Given the description of an element on the screen output the (x, y) to click on. 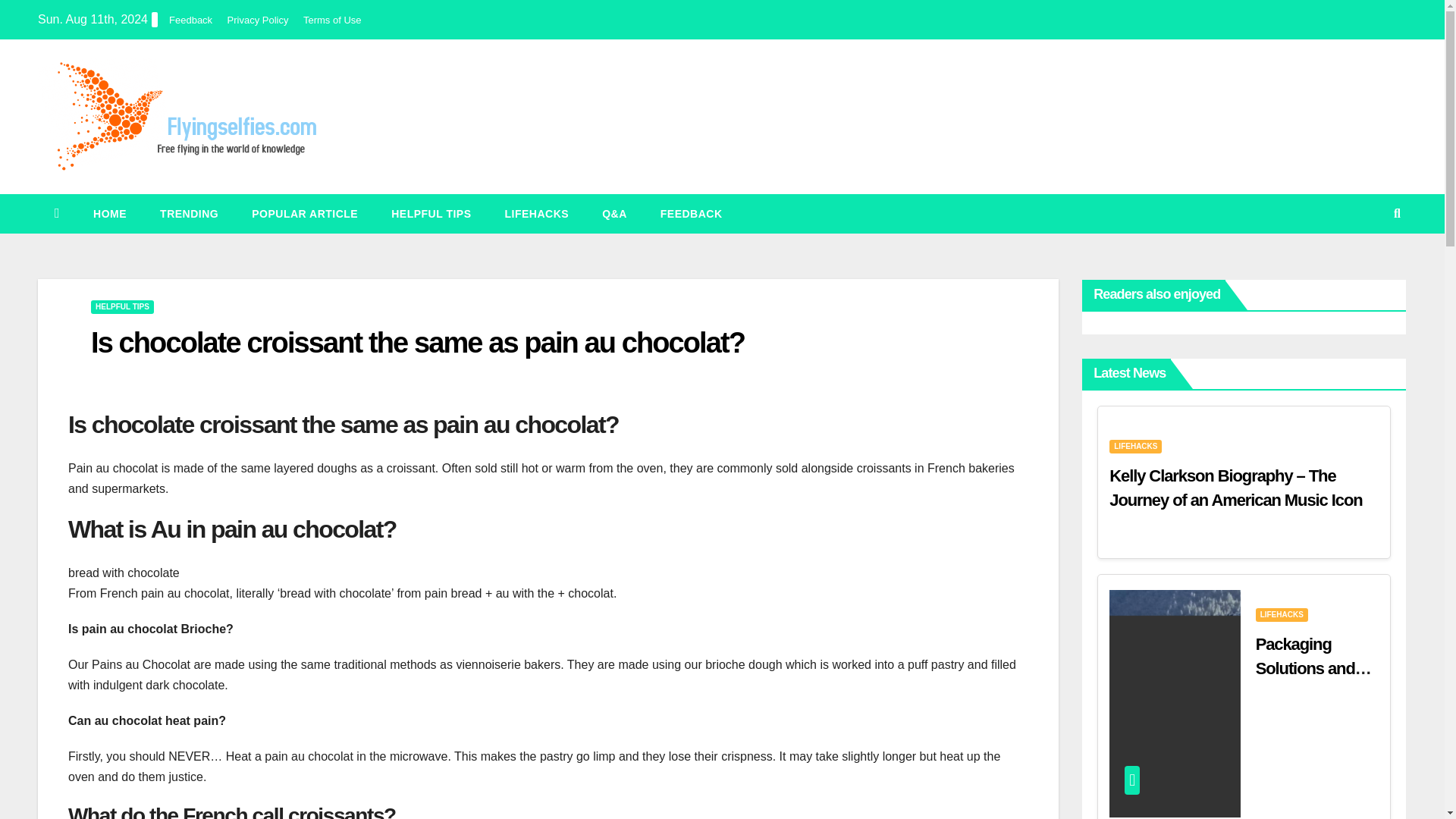
FEEDBACK (691, 213)
Is chocolate croissant the same as pain au chocolat? (417, 342)
Trending (188, 213)
Home (109, 213)
HOME (109, 213)
Feedback (190, 19)
LIFEHACKS (536, 213)
Terms of Use (331, 19)
Feedback (691, 213)
